Given the description of an element on the screen output the (x, y) to click on. 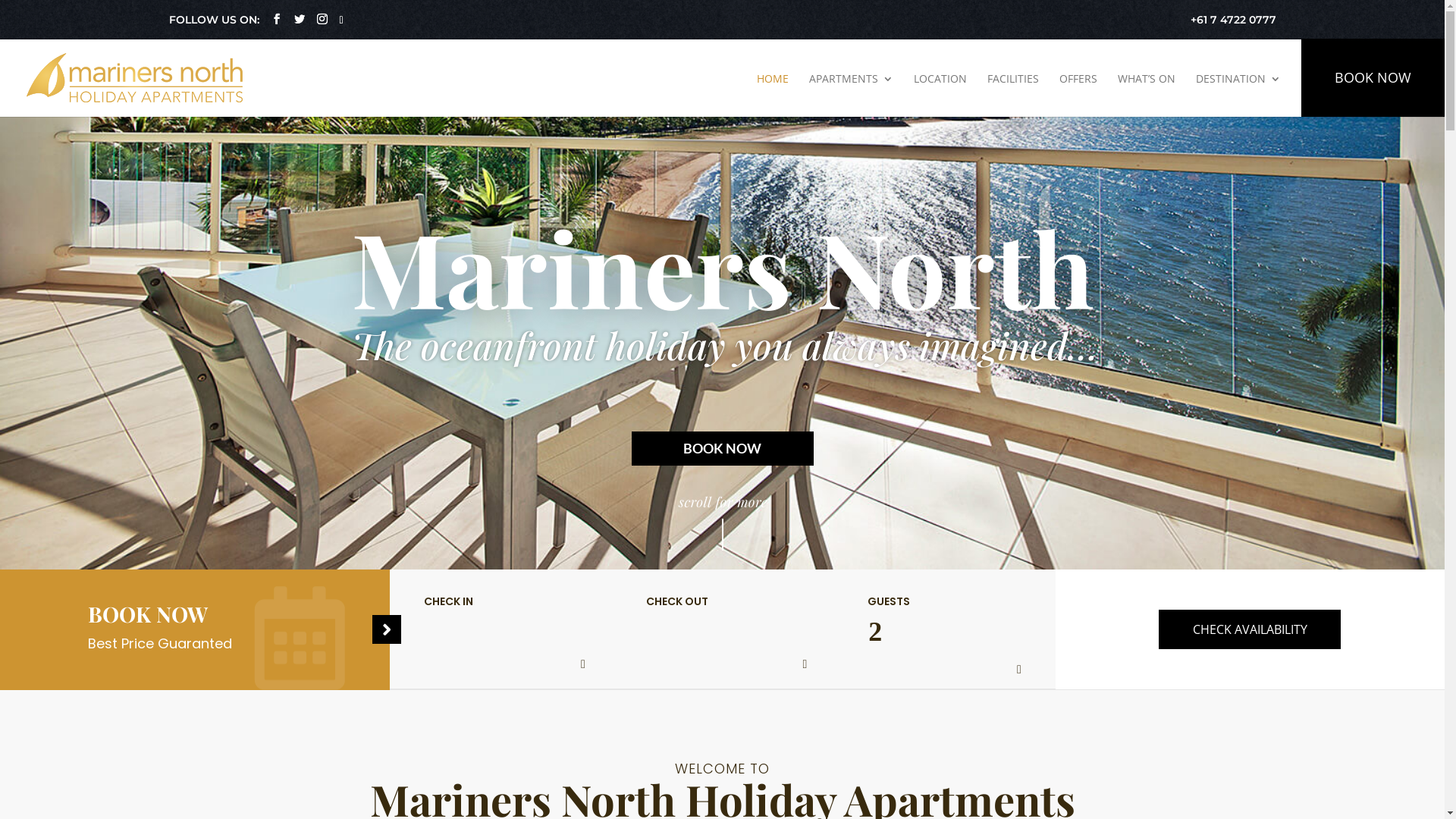
HOME Element type: text (772, 94)
CHECK AVAILABILITY Element type: text (1249, 629)
OFFERS Element type: text (1078, 94)
BOOK NOW Element type: text (721, 447)
APARTMENTS Element type: text (851, 94)
FACILITIES Element type: text (1012, 94)
BOOK NOW Element type: text (1372, 76)
LOCATION Element type: text (939, 94)
DESTINATION Element type: text (1237, 94)
+61 7 4722 0777 Element type: text (1233, 23)
